Given the description of an element on the screen output the (x, y) to click on. 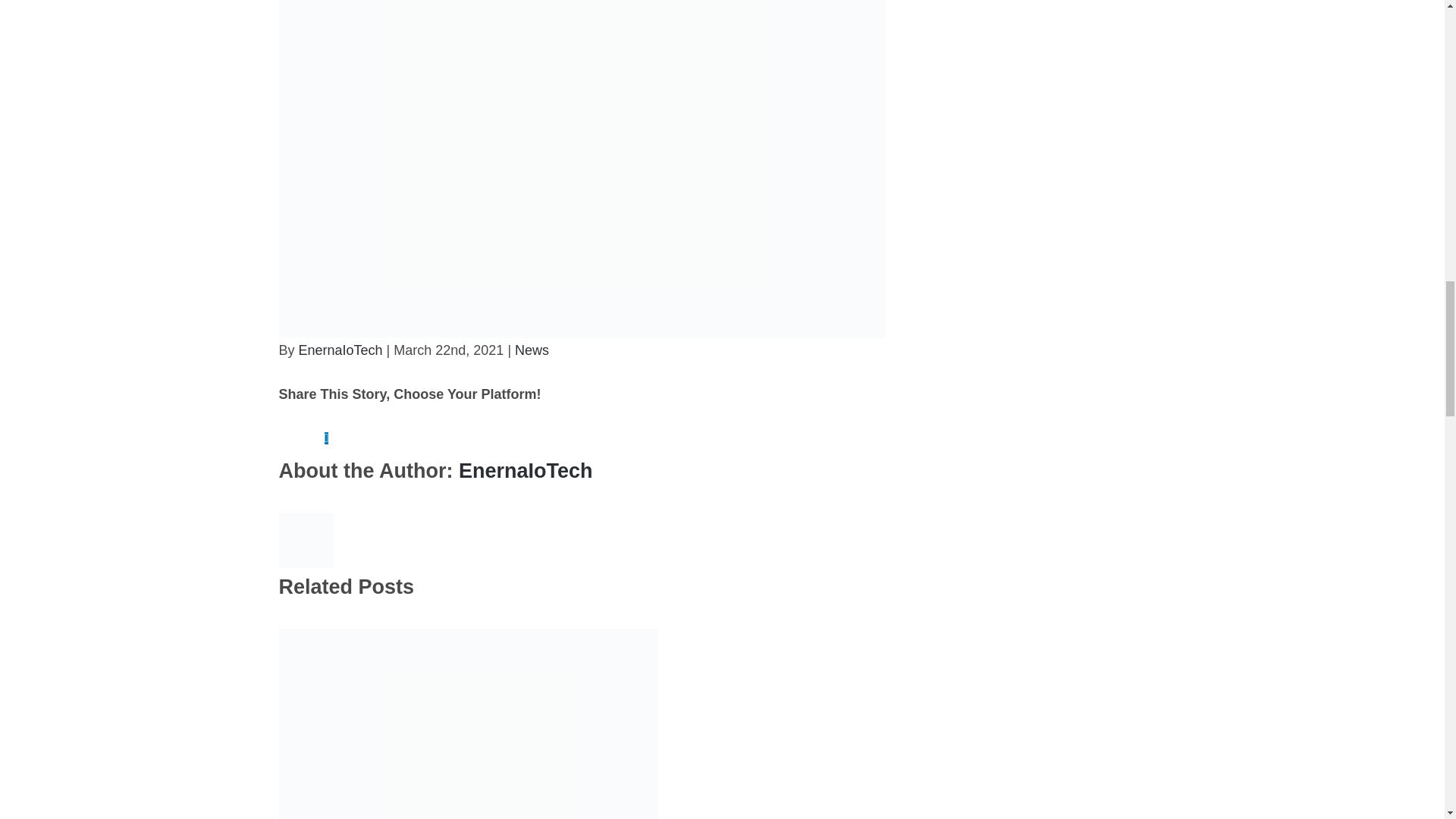
Posts by EnernaIoTech (340, 350)
